Given the description of an element on the screen output the (x, y) to click on. 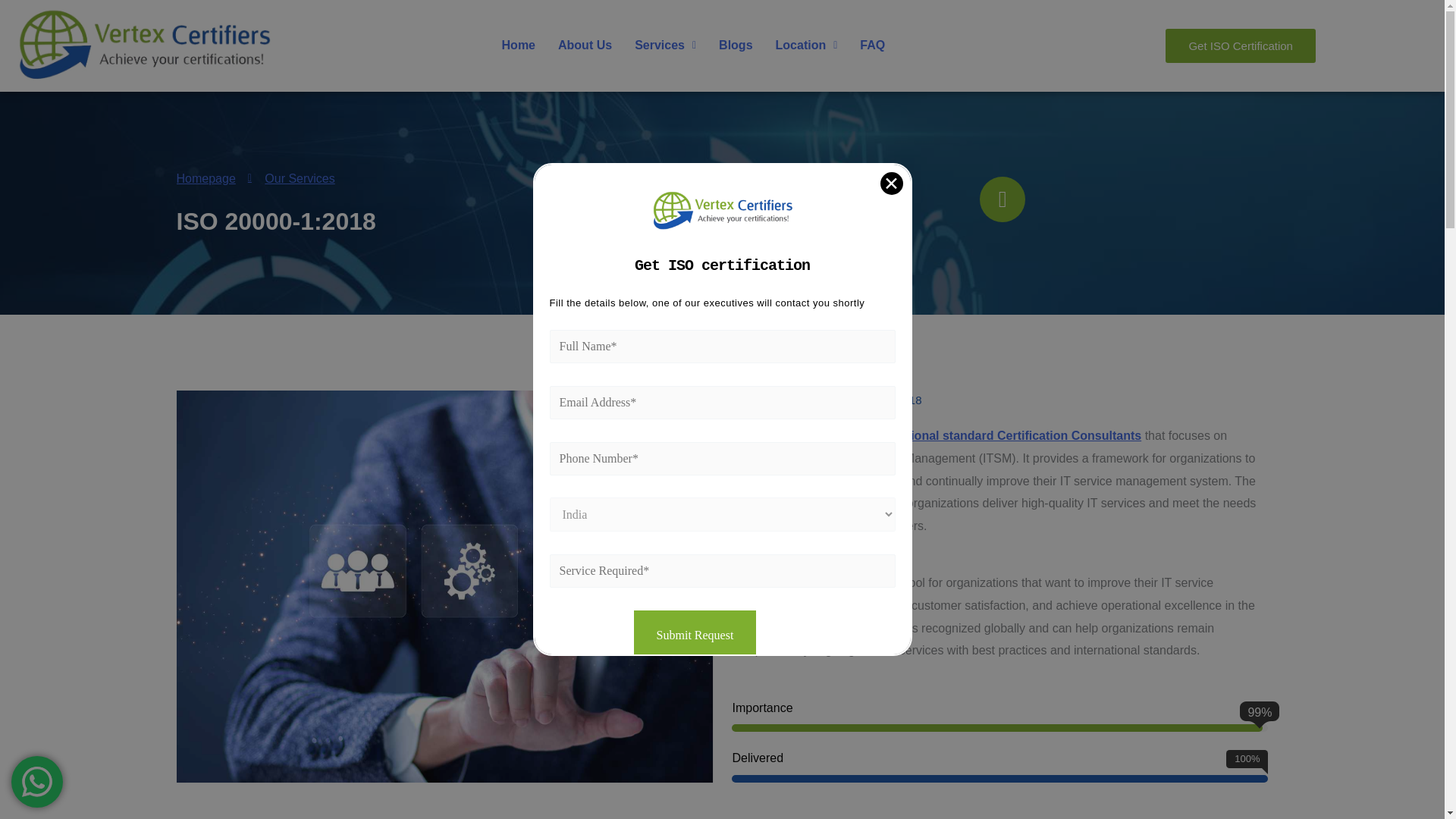
Submit Request (695, 635)
WhatsApp us (36, 781)
